Given the description of an element on the screen output the (x, y) to click on. 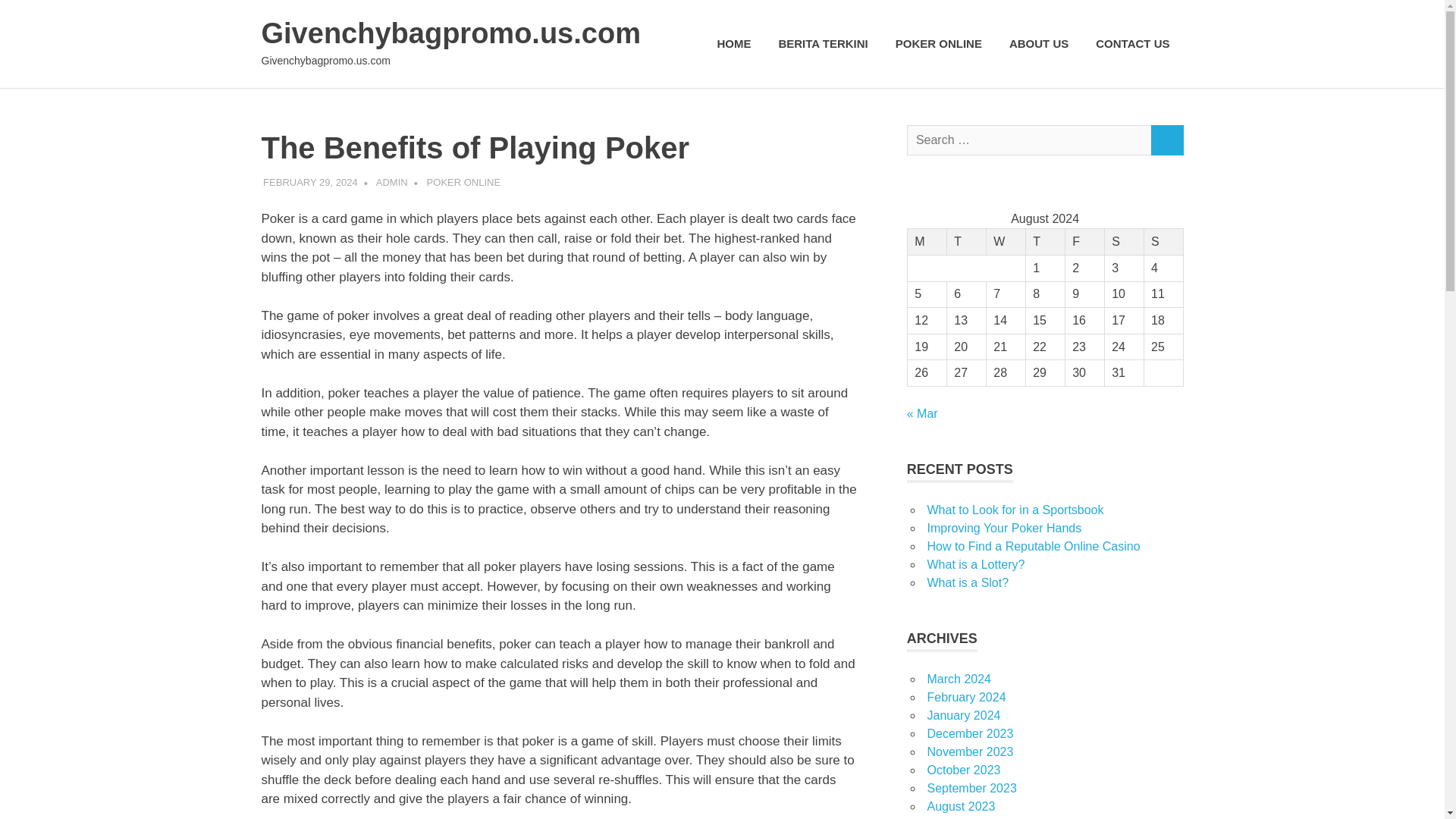
Tuesday (965, 242)
What is a Slot? (967, 582)
Givenchybagpromo.us.com (450, 33)
July 2023 (952, 818)
Monday (926, 242)
February 2024 (966, 697)
HOME (733, 44)
August 2023 (960, 806)
December 2023 (969, 733)
ABOUT US (1038, 44)
